Given the description of an element on the screen output the (x, y) to click on. 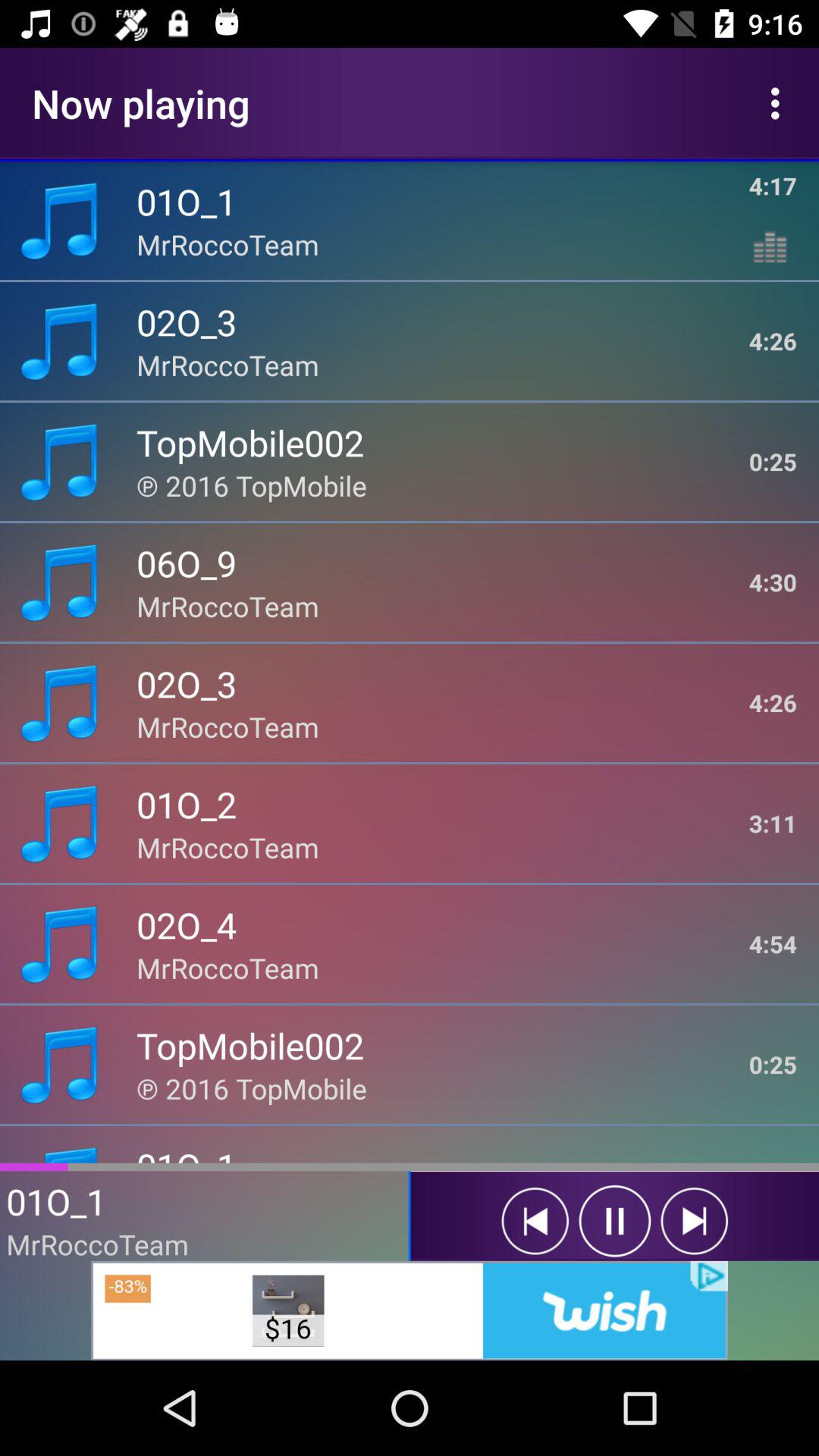
pause button (614, 1220)
